Given the description of an element on the screen output the (x, y) to click on. 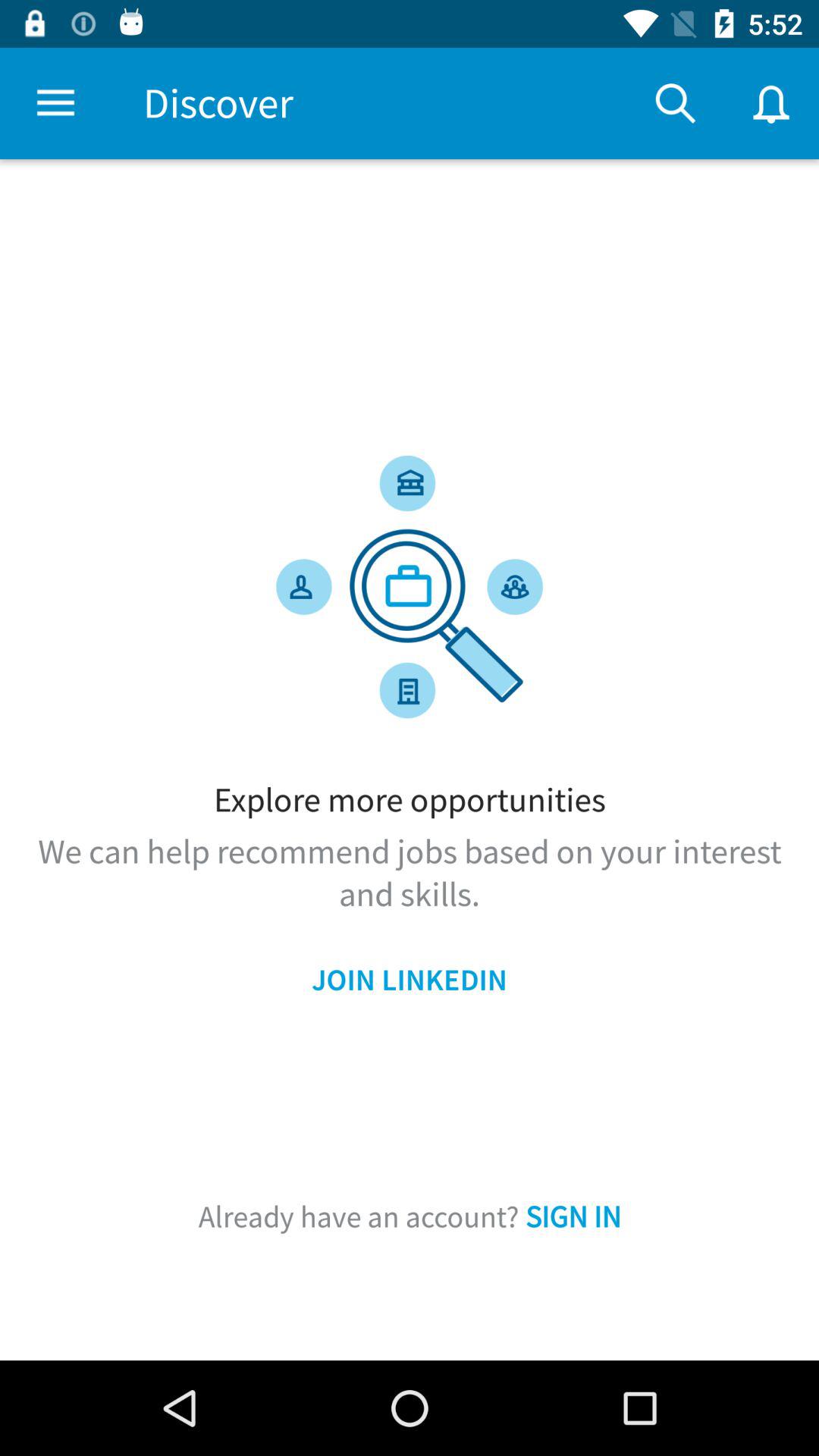
jump to the join linkedin item (409, 979)
